Given the description of an element on the screen output the (x, y) to click on. 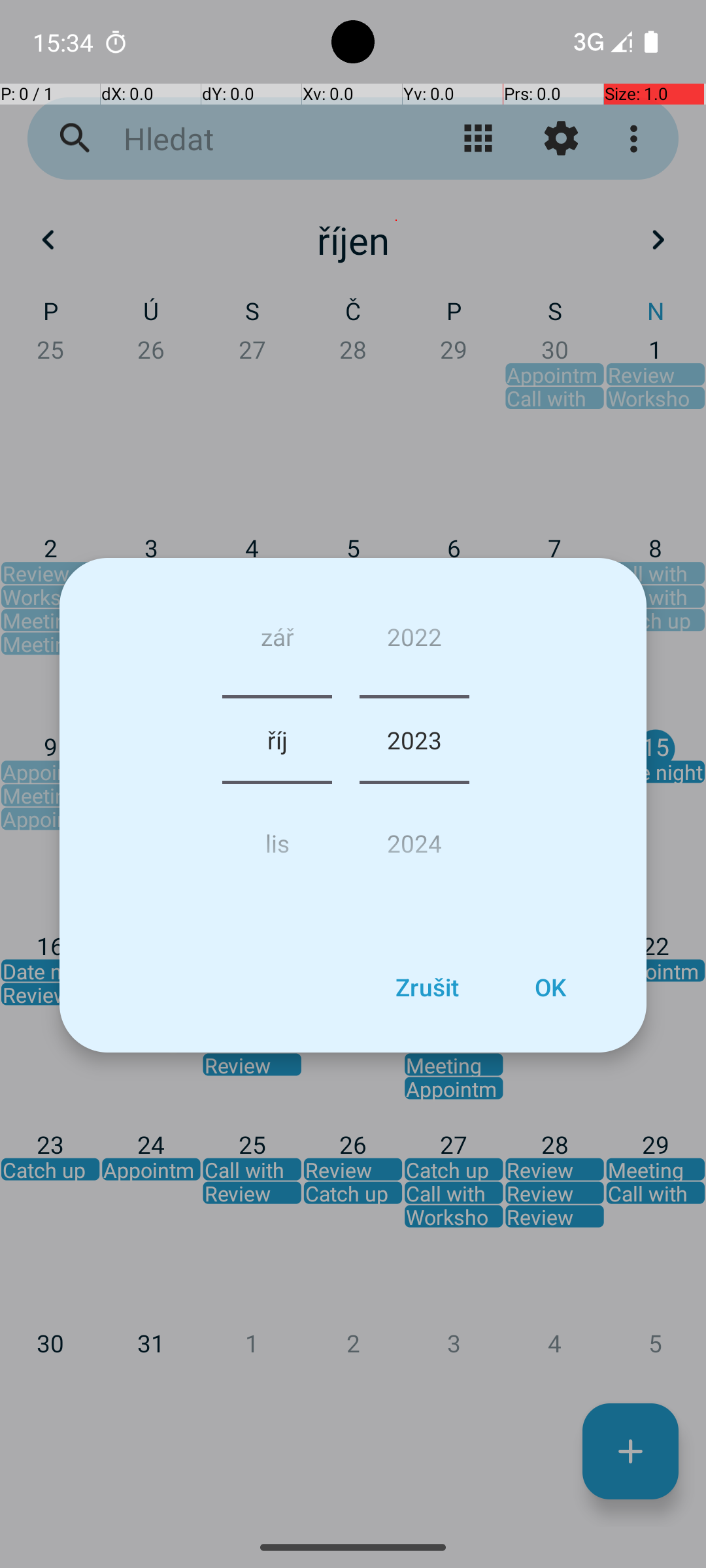
zář Element type: android.widget.Button (277, 641)
říj Element type: android.widget.EditText (277, 739)
lis Element type: android.widget.Button (277, 837)
